Given the description of an element on the screen output the (x, y) to click on. 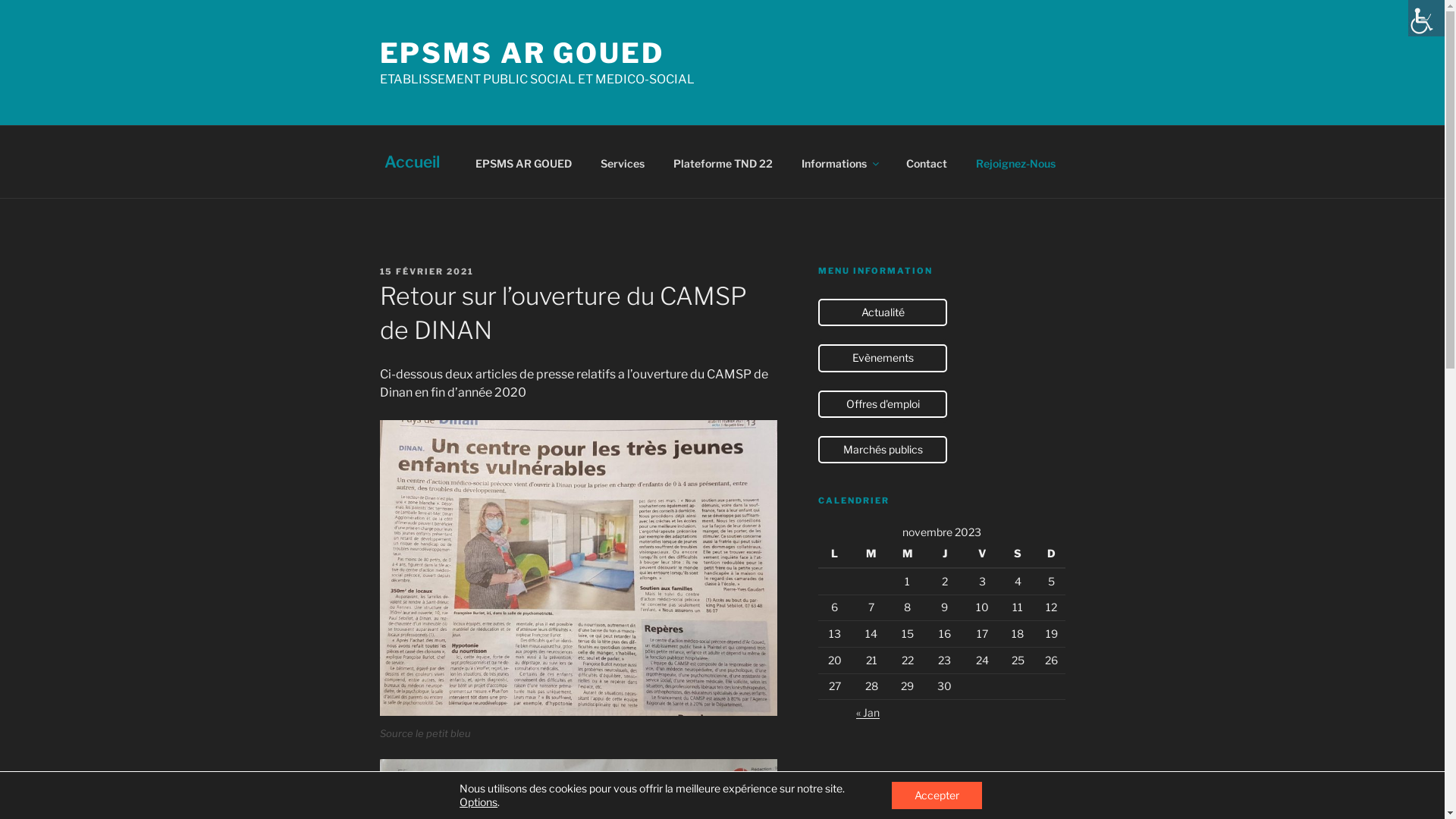
Plateforme TND 22 Element type: text (722, 162)
Accueil Element type: text (411, 161)
Offres d'emploi Element type: text (882, 403)
EPSMS AR GOUED Element type: text (521, 52)
Options Element type: text (478, 802)
Rejoignez-Nous Element type: text (1015, 162)
Services Element type: text (621, 162)
EPSMS AR GOUED Element type: text (522, 162)
Contact Element type: text (926, 162)
Informations Element type: text (838, 162)
Accessibility Helper sidebar Element type: hover (1426, 18)
Accepter Element type: text (936, 795)
